Given the description of an element on the screen output the (x, y) to click on. 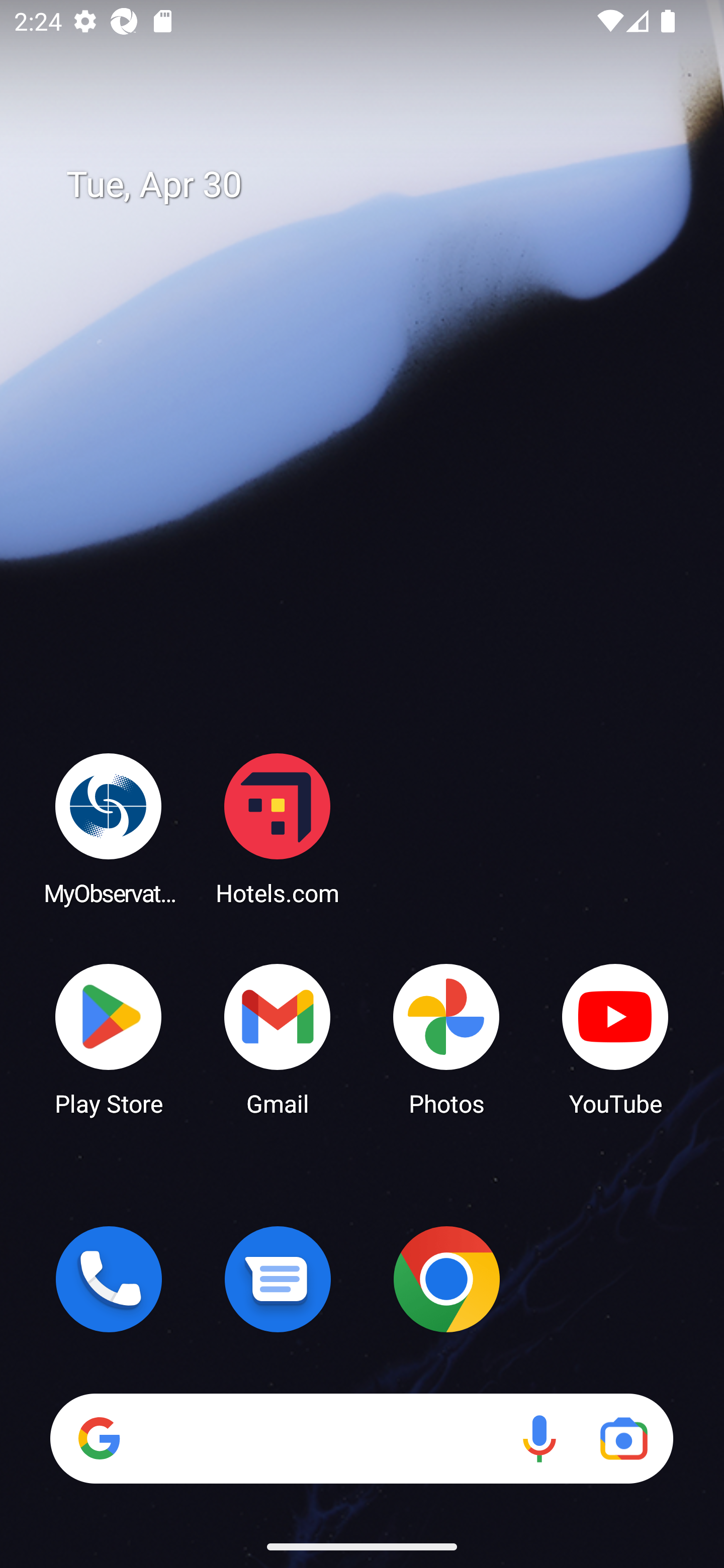
Tue, Apr 30 (375, 184)
MyObservatory (108, 828)
Hotels.com (277, 828)
Play Store (108, 1038)
Gmail (277, 1038)
Photos (445, 1038)
YouTube (615, 1038)
Phone (108, 1279)
Messages (277, 1279)
Chrome (446, 1279)
Voice search (539, 1438)
Google Lens (623, 1438)
